Given the description of an element on the screen output the (x, y) to click on. 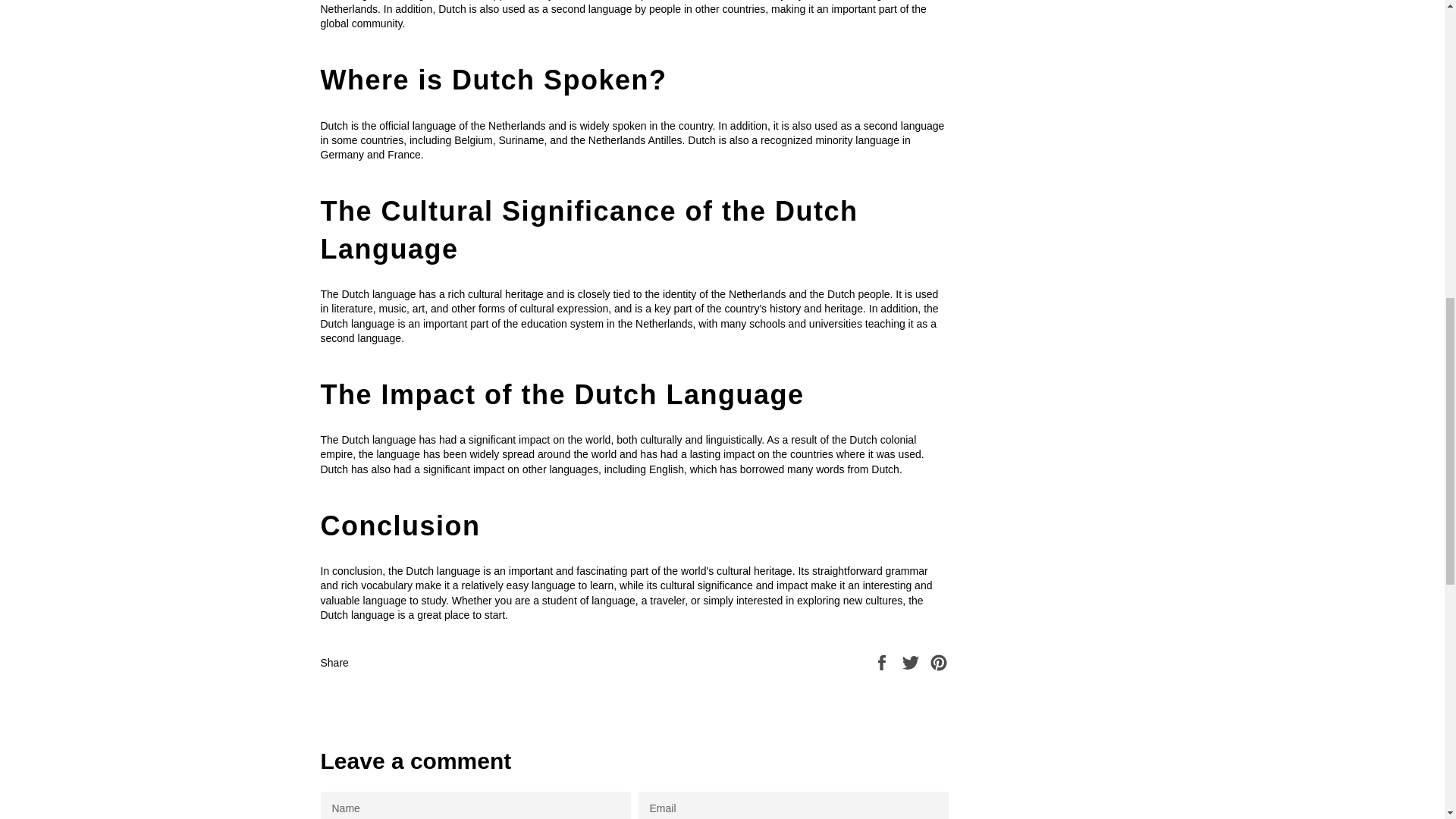
Tweet on Twitter (912, 662)
Pin on Pinterest (938, 662)
Share on Facebook (882, 662)
